Given the description of an element on the screen output the (x, y) to click on. 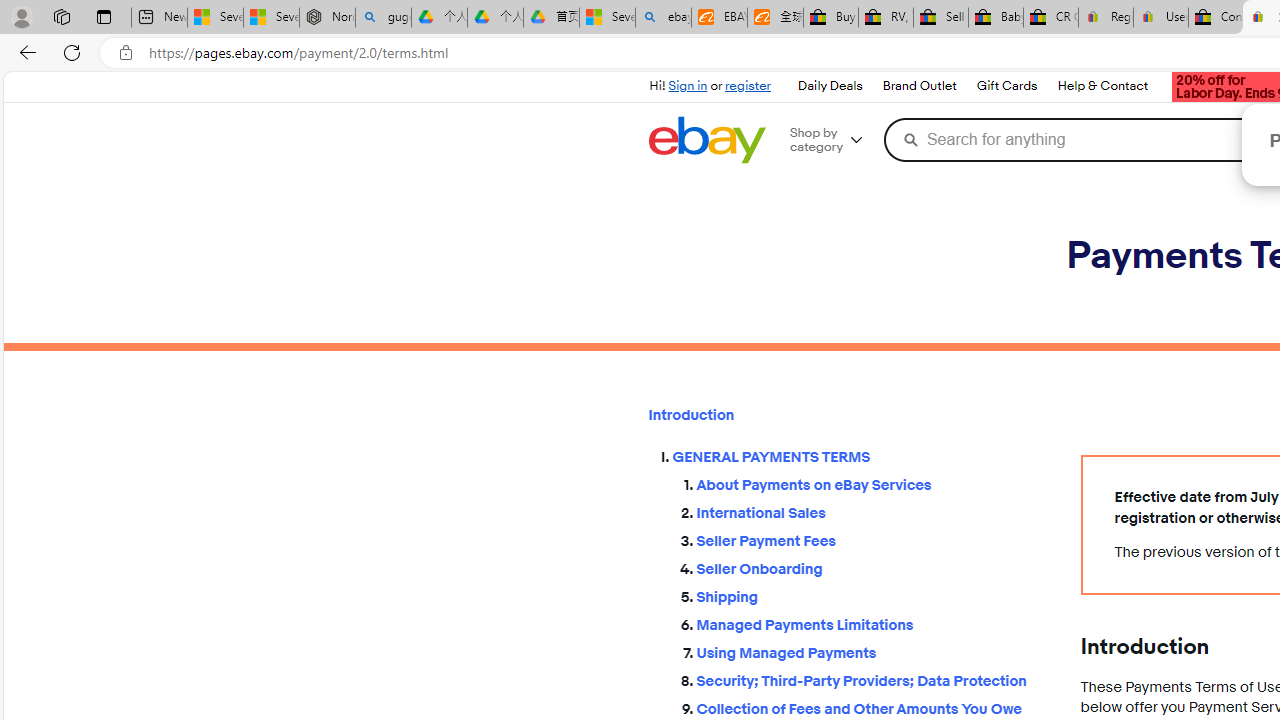
Daily Deals (829, 86)
Managed Payments Limitations (872, 624)
Shipping (872, 592)
About Payments on eBay Services (872, 481)
Sell worldwide with eBay (940, 17)
International Sales (872, 509)
eBay Home (706, 139)
Seller Onboarding (872, 565)
Shop by category (833, 140)
Introduction (848, 415)
ebay - Search (663, 17)
